Given the description of an element on the screen output the (x, y) to click on. 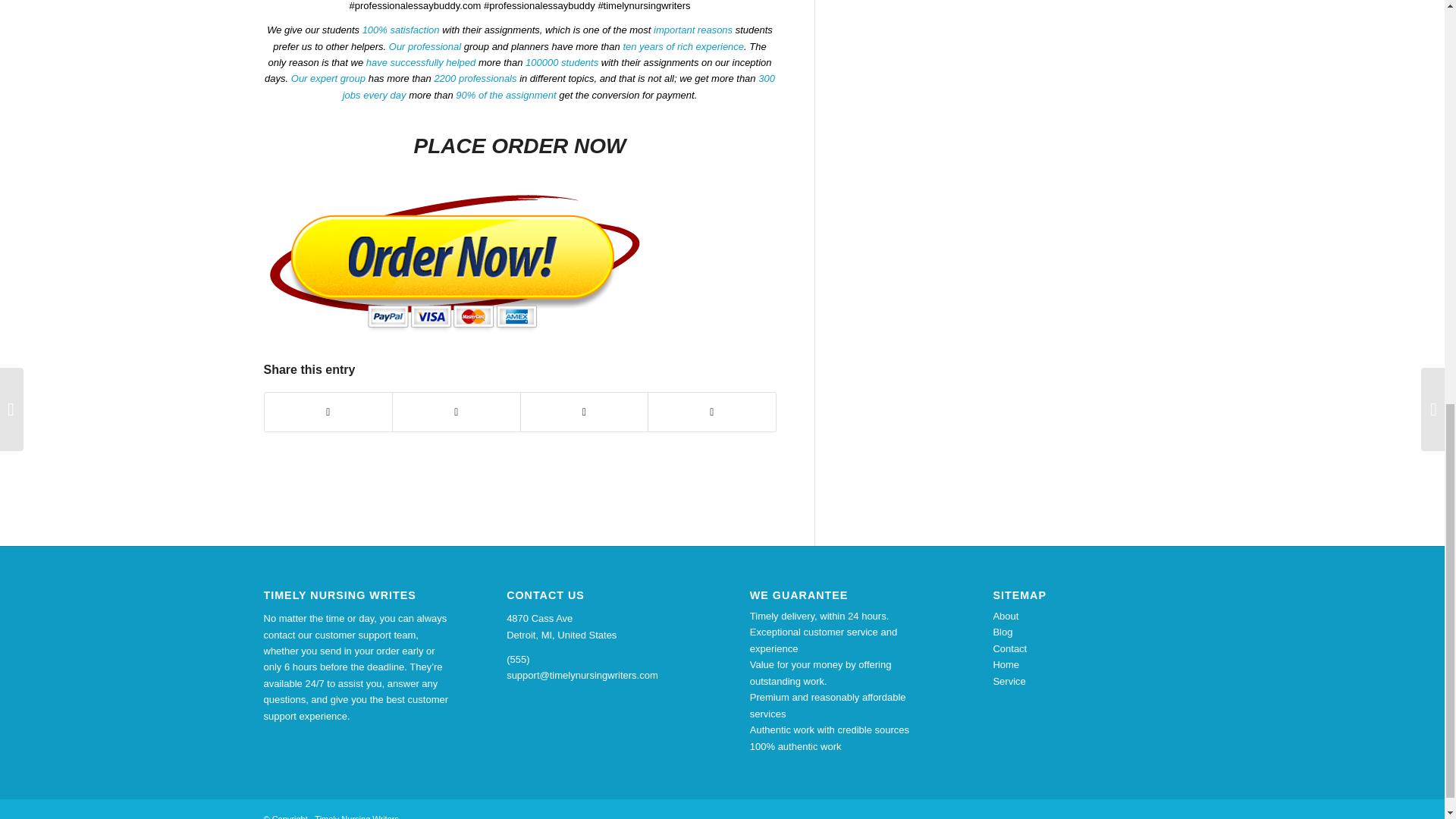
PLACE ORDER NOW (519, 146)
have successfully helped (421, 61)
ten years of rich experience (683, 46)
Our expert group (328, 78)
100000 students (561, 61)
300 jobs every day (558, 85)
Our professional (424, 46)
2200 professionals (474, 78)
important reasons (692, 30)
